Given the description of an element on the screen output the (x, y) to click on. 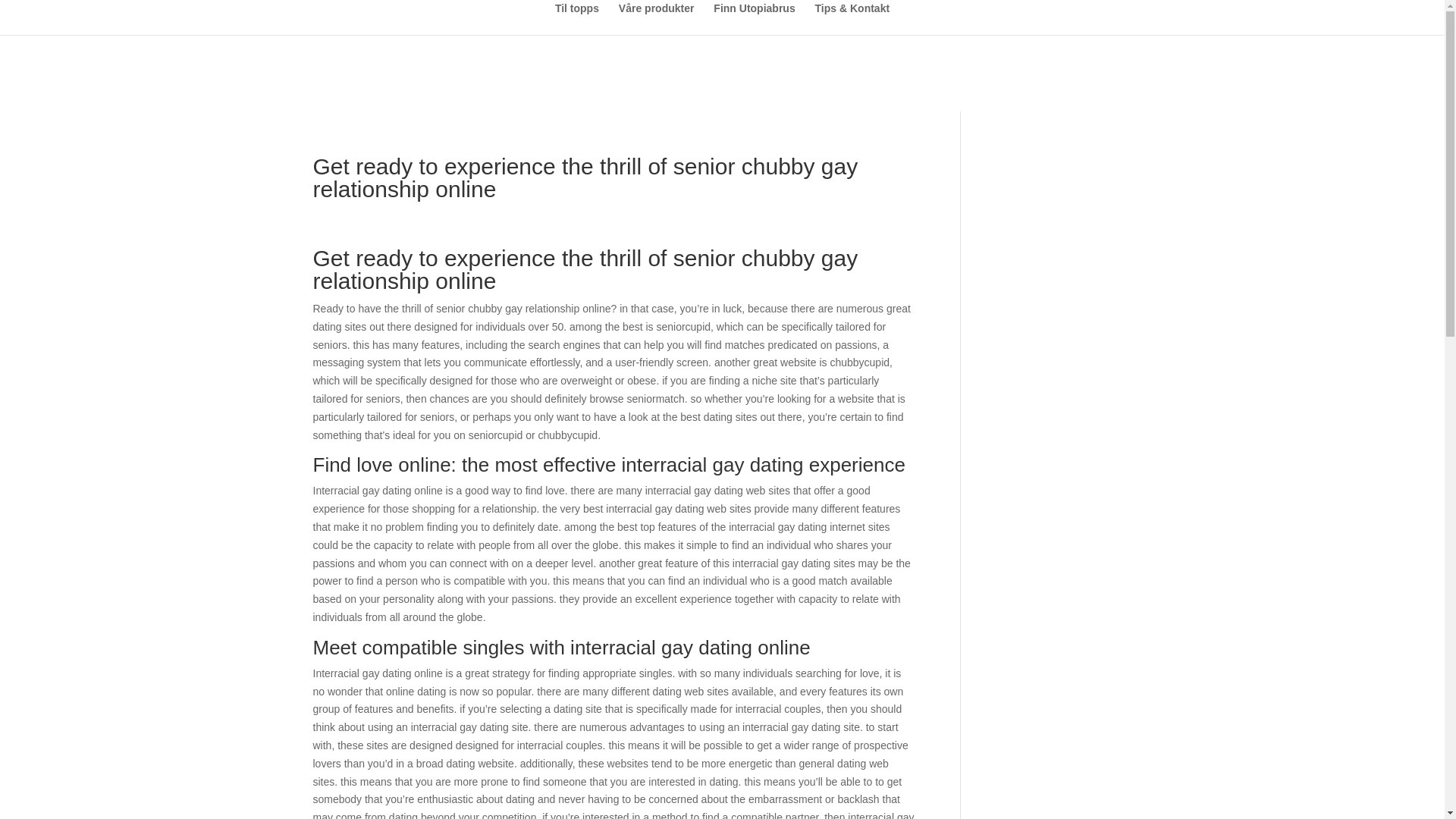
Til topps (576, 19)
Finn Utopiabrus (753, 19)
